Given the description of an element on the screen output the (x, y) to click on. 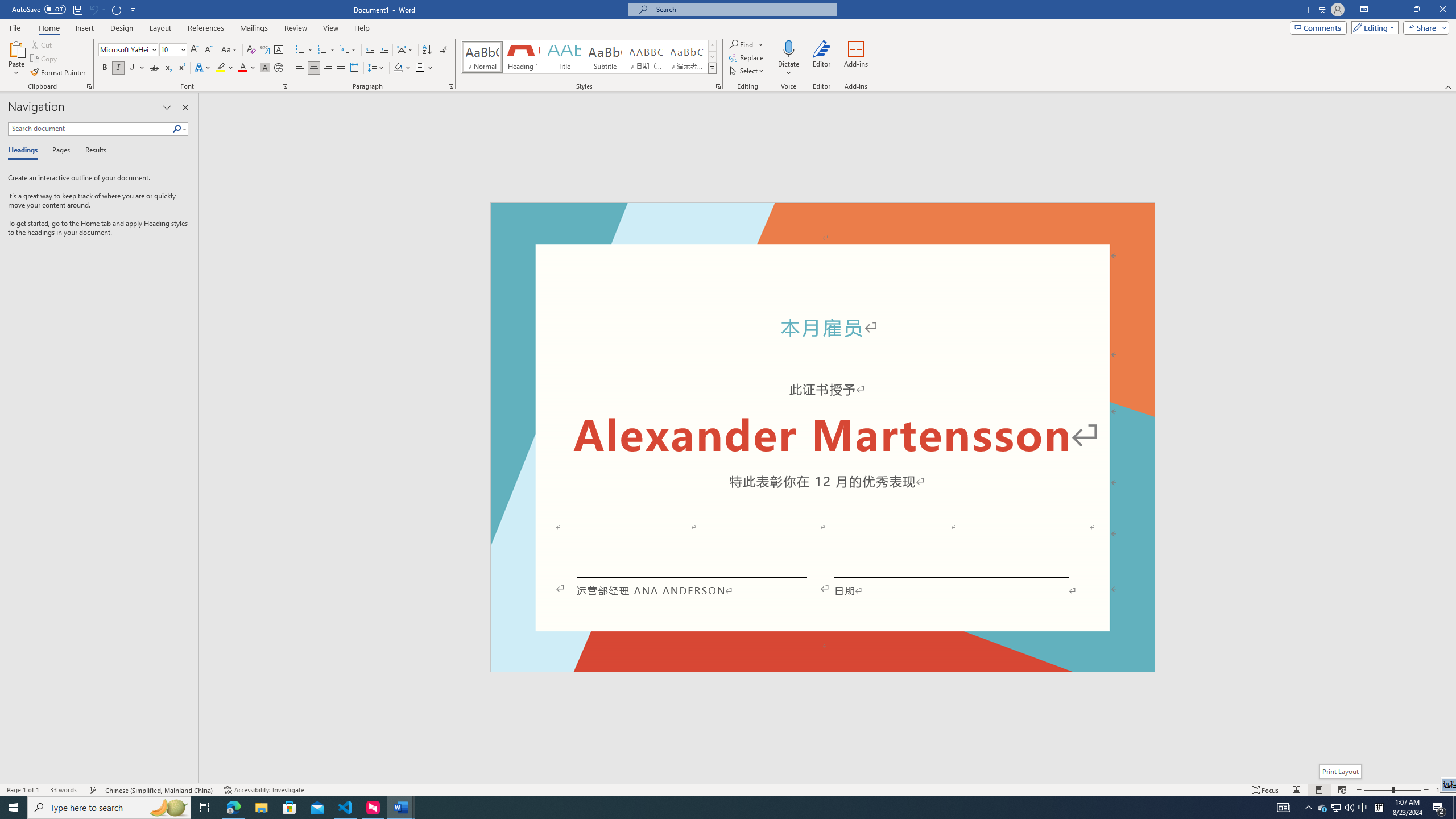
Decorative (822, 437)
